Given the description of an element on the screen output the (x, y) to click on. 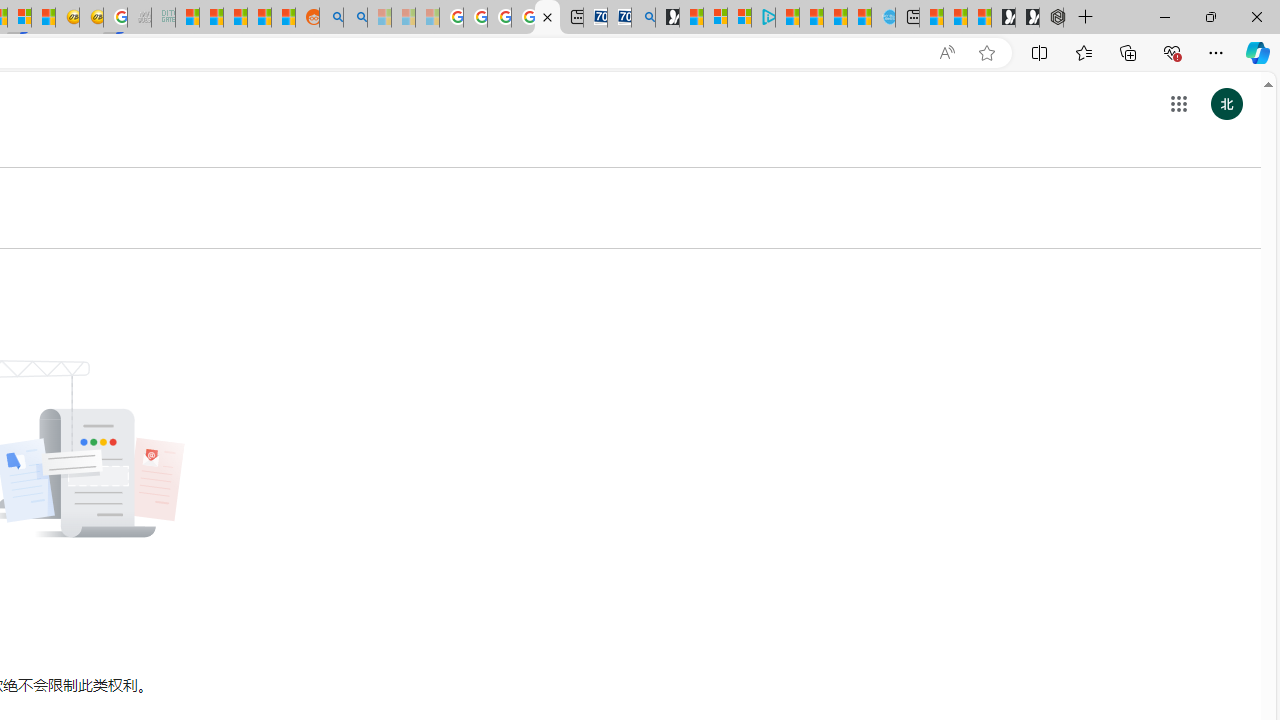
Student Loan Update: Forgiveness Program Ends This Month (259, 17)
